Given the description of an element on the screen output the (x, y) to click on. 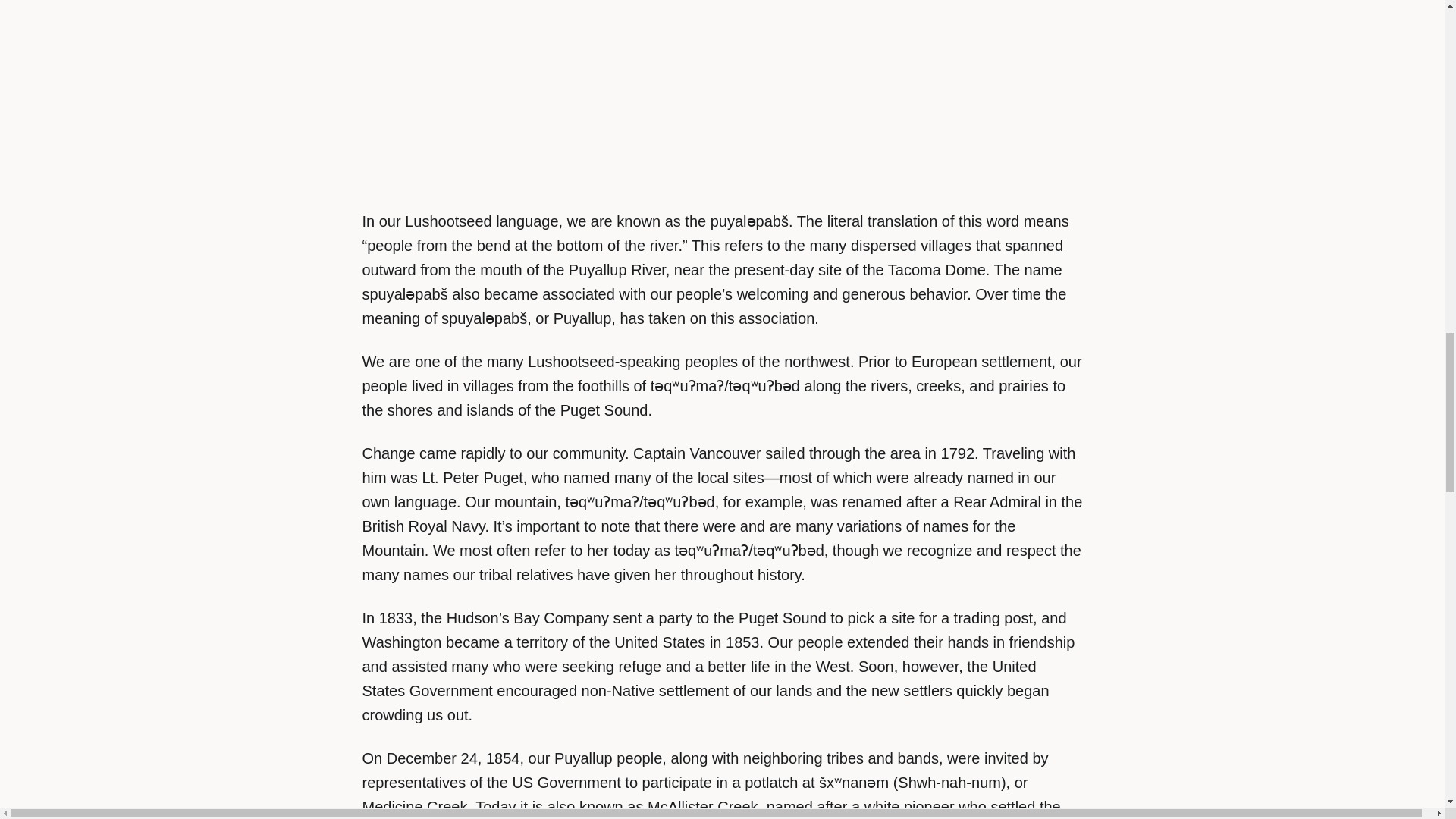
We are Puyallup: A Brief History of the Puyallup Tribe (722, 87)
